Given the description of an element on the screen output the (x, y) to click on. 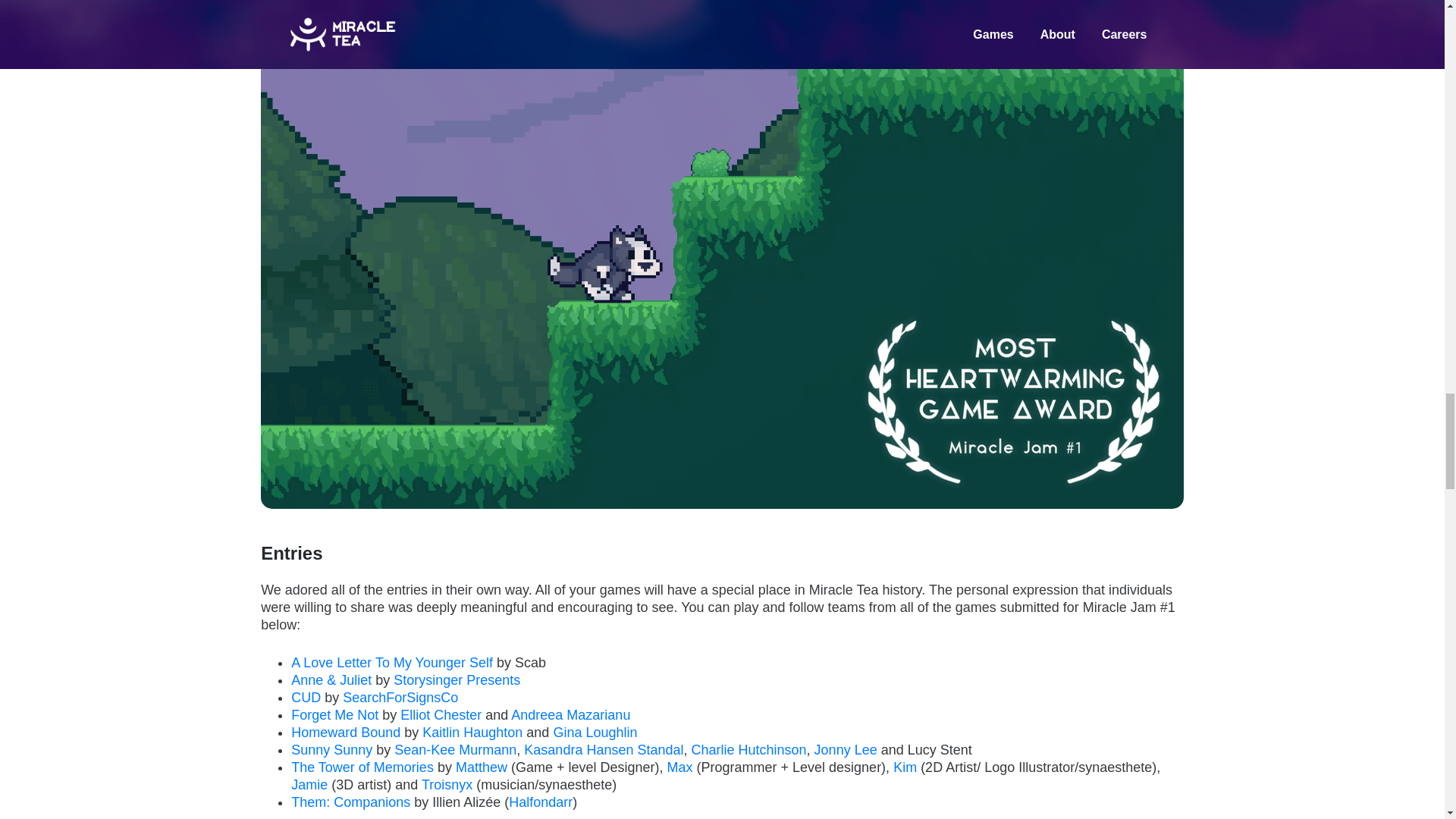
Charlie Hutchinson (748, 749)
Jonny Lee (845, 749)
Kaitlin Haughton (472, 732)
CUD (305, 697)
Kasandra Hansen Standal (603, 749)
Andreea Mazarianu (570, 714)
Storysinger Presents (456, 679)
Homeward Bound (345, 732)
Gina Loughlin (595, 732)
A Love Letter To My Younger Self (392, 662)
Sunny Sunny (331, 749)
Forget Me Not (334, 714)
Elliot Chester (440, 714)
SearchForSignsCo (400, 697)
Sean-Kee Murmann (455, 749)
